Given the description of an element on the screen output the (x, y) to click on. 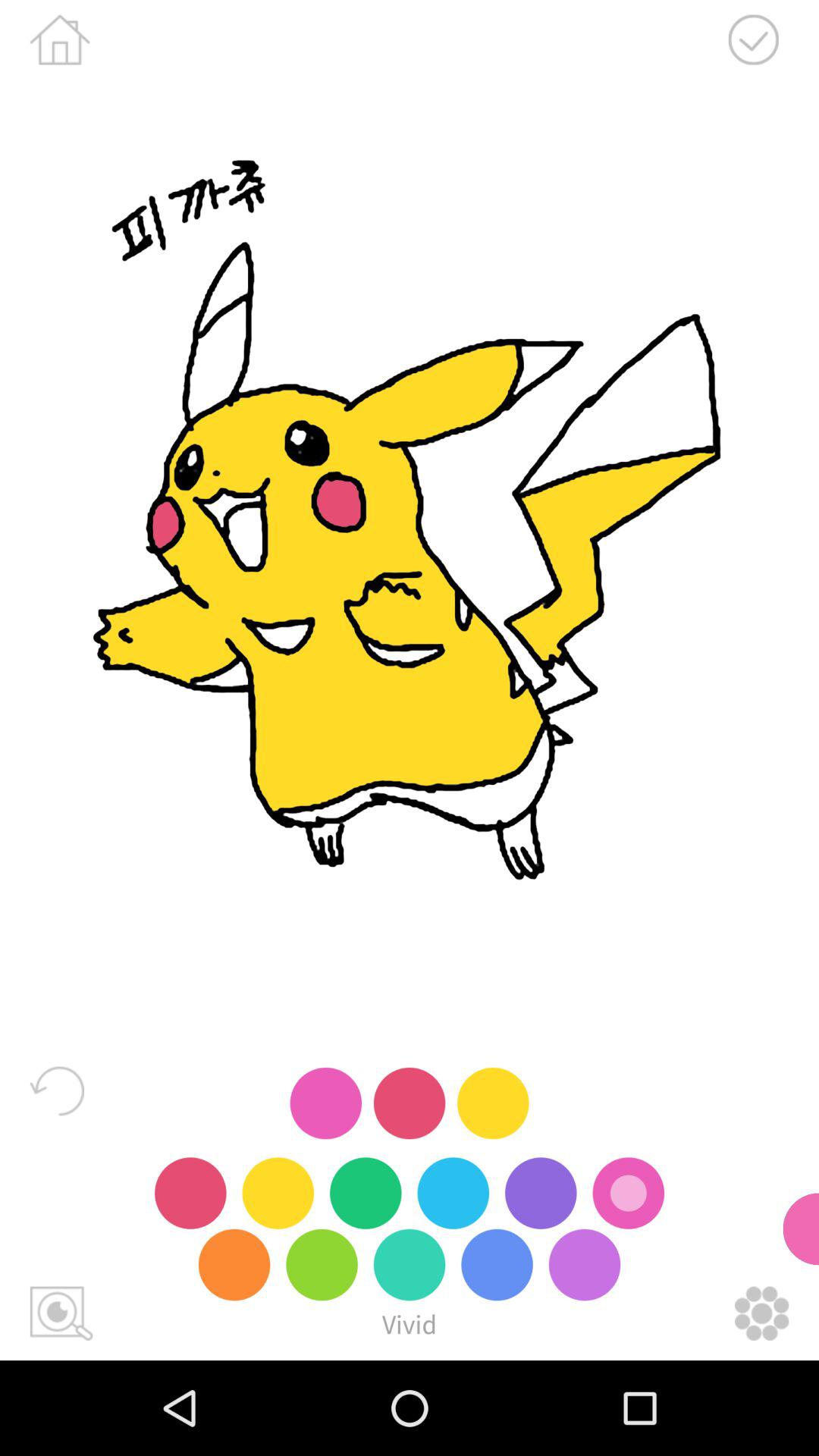
toggle color wheel (761, 1313)
